Given the description of an element on the screen output the (x, y) to click on. 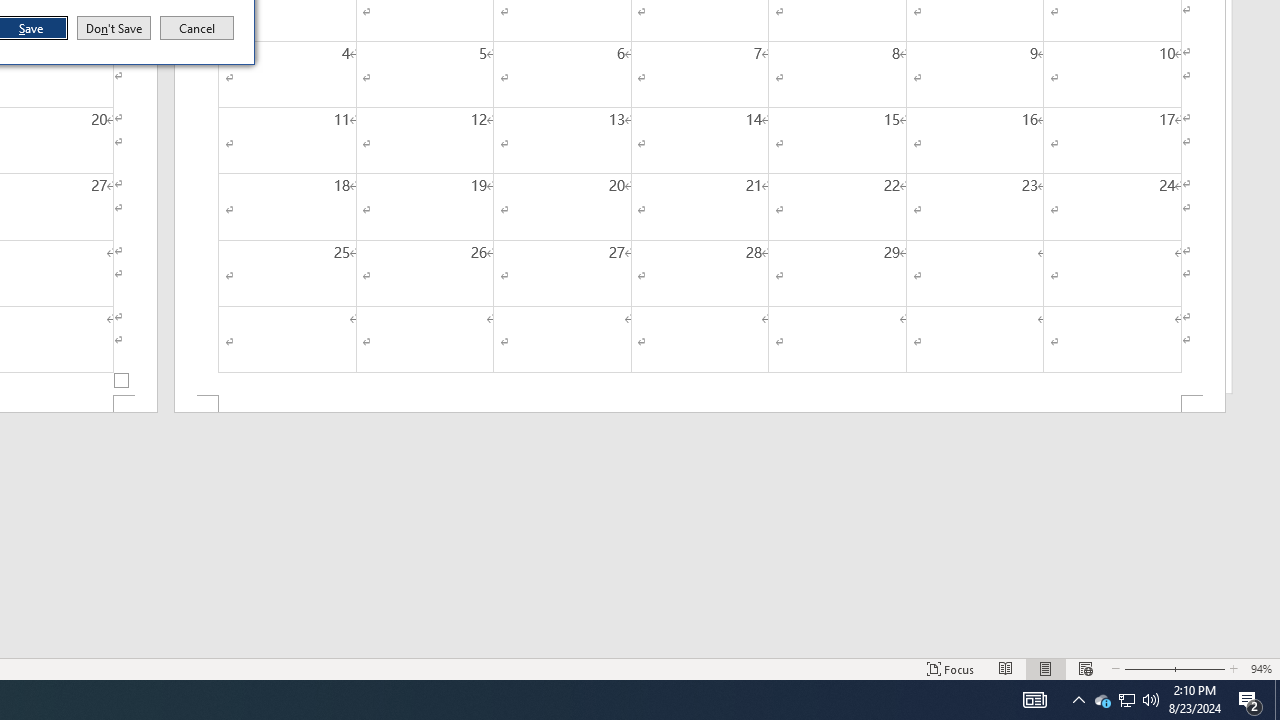
Cancel (197, 27)
Don't Save (113, 27)
